Given the description of an element on the screen output the (x, y) to click on. 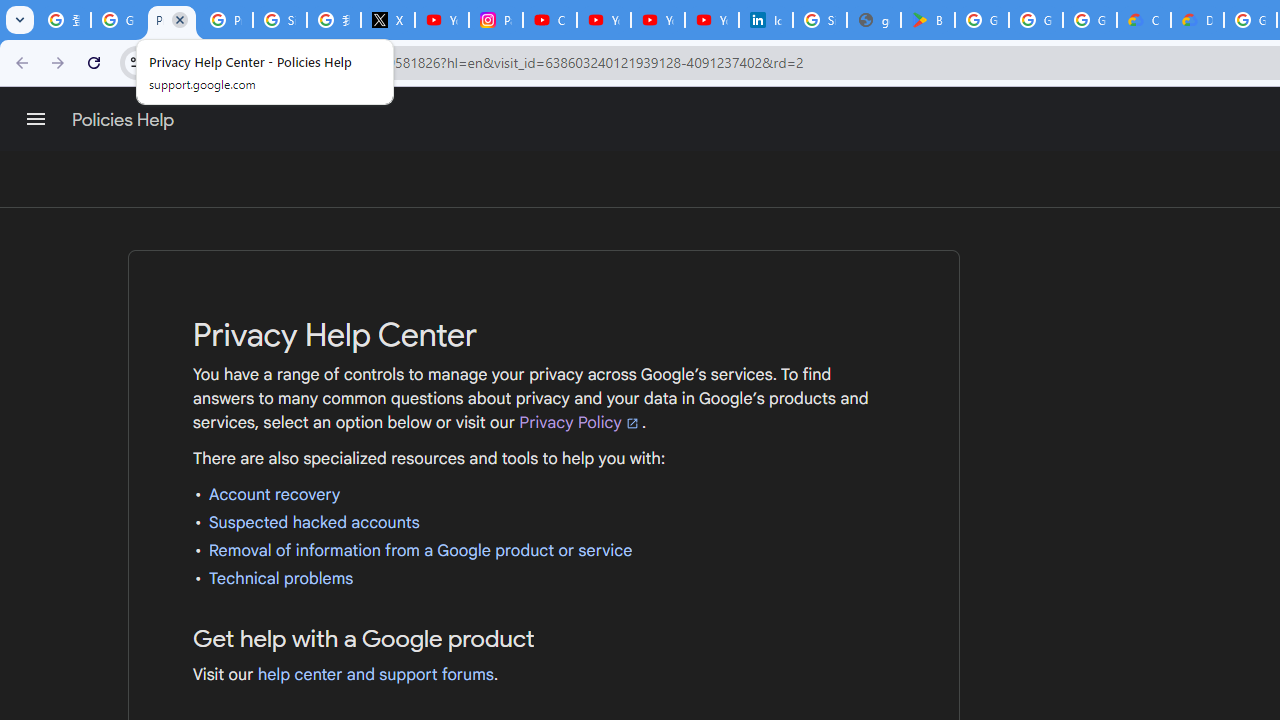
YouTube Culture & Trends - YouTube Top 10, 2021 (711, 20)
Google Workspace - Specific Terms (1089, 20)
Policies Help (124, 119)
Main menu (35, 119)
google_privacy_policy_en.pdf (874, 20)
